Given the description of an element on the screen output the (x, y) to click on. 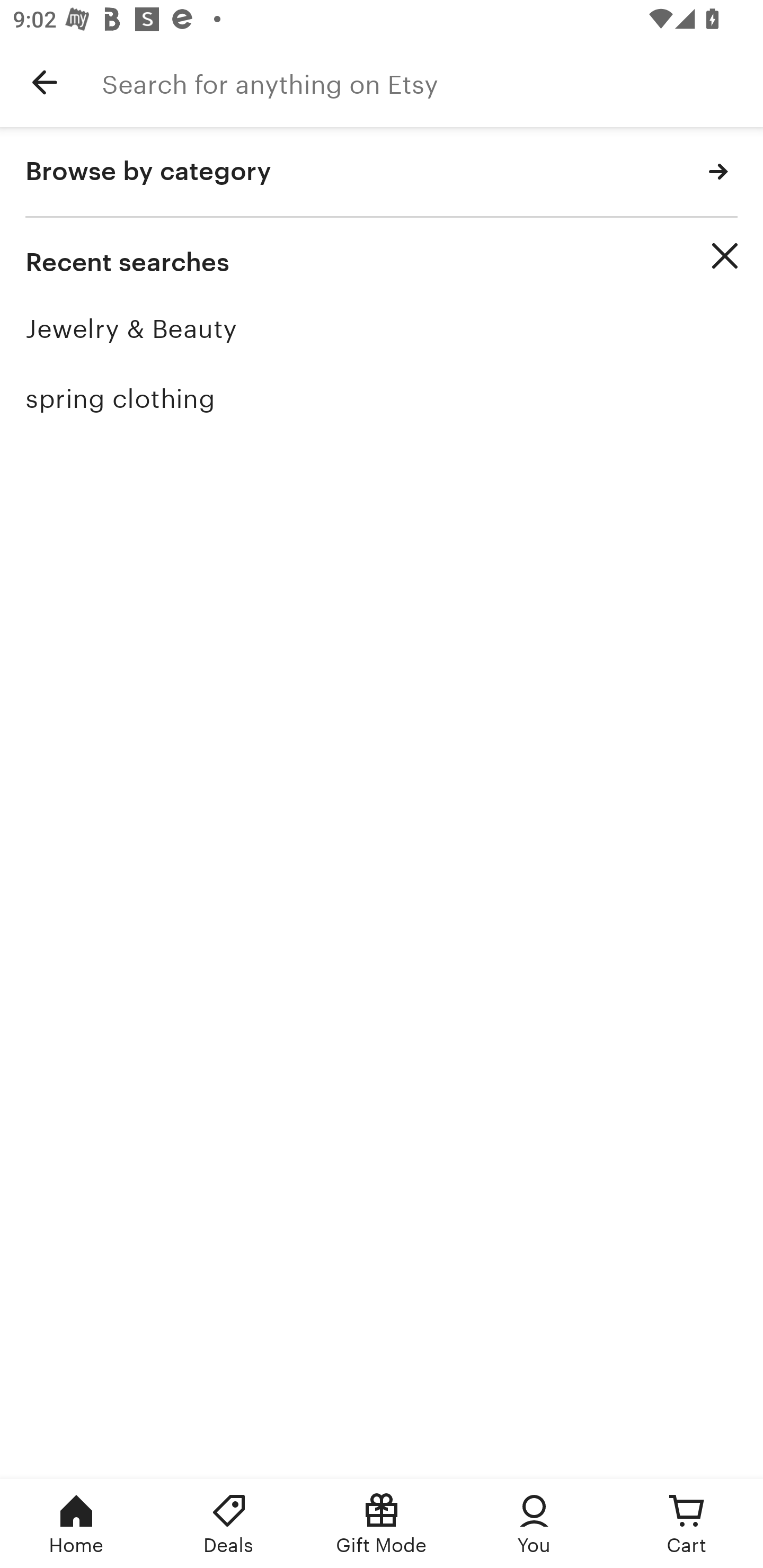
Navigate up (44, 82)
Search for anything on Etsy (432, 82)
Browse by category (381, 172)
Clear (724, 255)
Jewelry & Beauty (381, 328)
spring clothing (381, 398)
Deals (228, 1523)
Gift Mode (381, 1523)
You (533, 1523)
Cart (686, 1523)
